Given the description of an element on the screen output the (x, y) to click on. 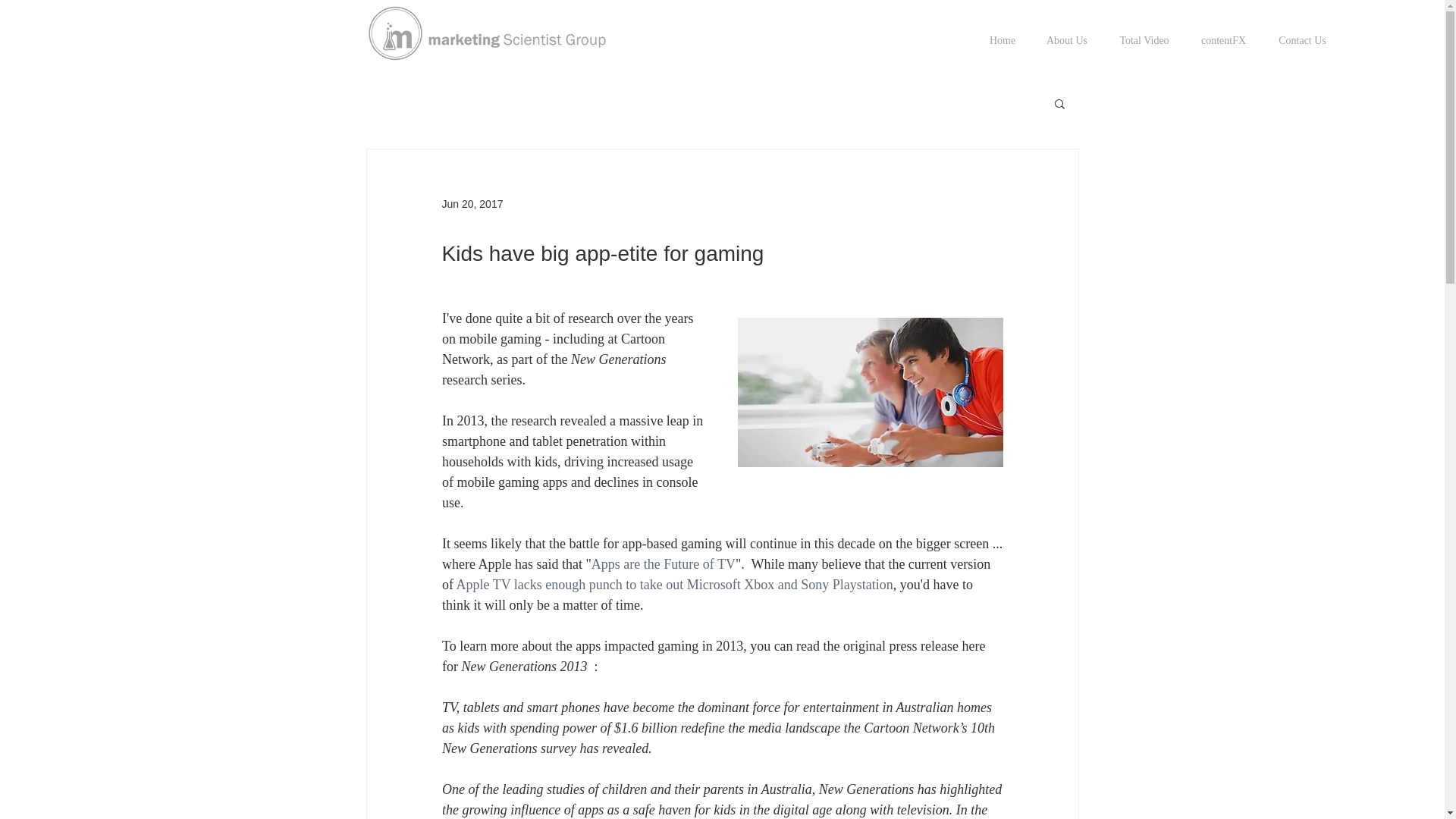
About Us (1066, 40)
contentFX (1223, 40)
Apps are the Future of TV (663, 563)
Total Video (1144, 40)
Home (1002, 40)
Contact Us (1302, 40)
Jun 20, 2017 (471, 203)
